Given the description of an element on the screen output the (x, y) to click on. 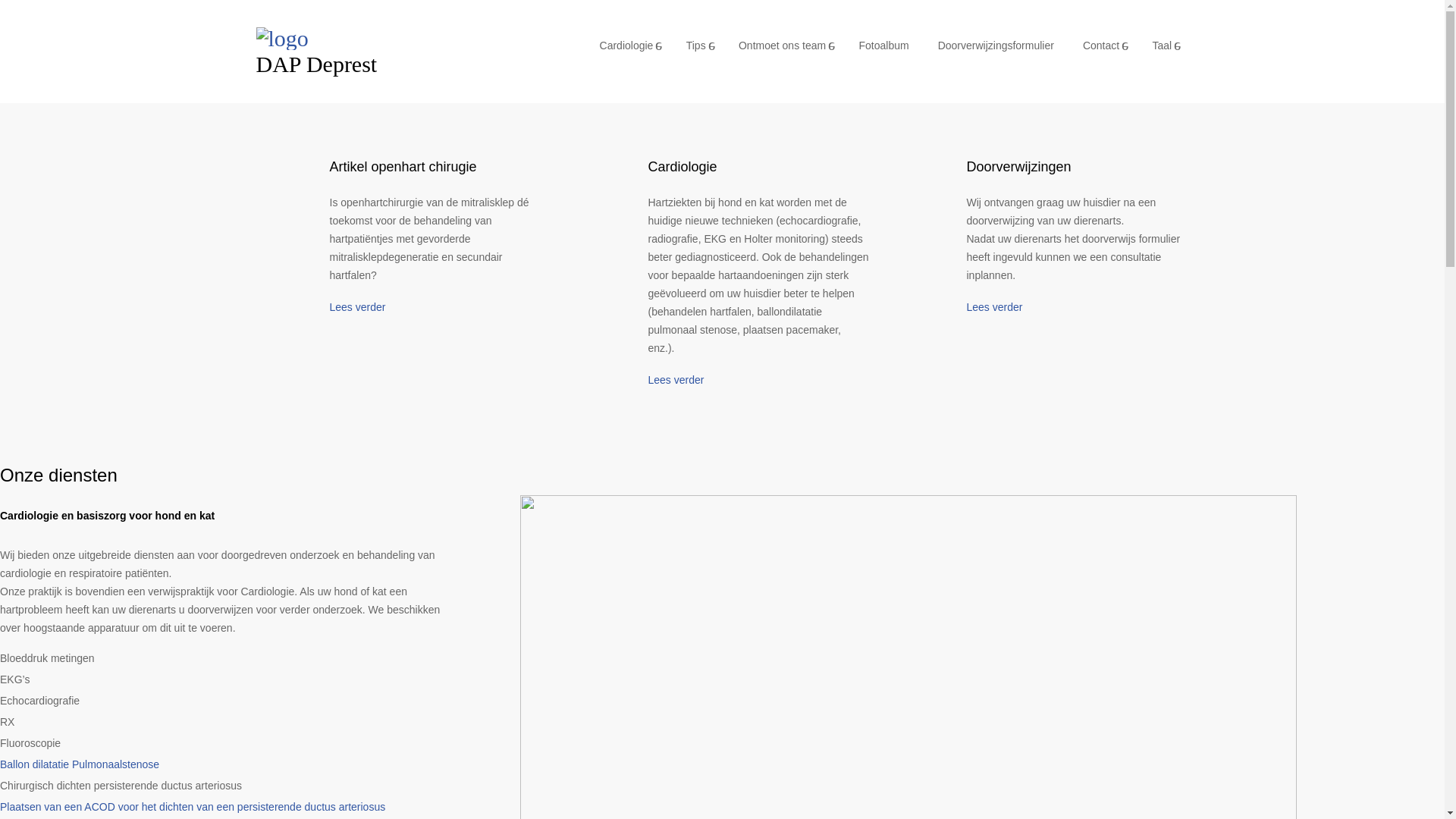
Tips Element type: text (698, 45)
Lees verder Element type: text (994, 307)
Cardiologie Element type: text (681, 166)
Fotoalbum Element type: text (883, 45)
Ontmoet ons team Element type: text (784, 45)
Ballon dilatatie Pulmonaalstenose Element type: text (79, 764)
Artikel openhart chirugie Element type: text (402, 166)
Lees verder Element type: text (675, 379)
Lees verder Element type: text (357, 307)
Contact Element type: text (1103, 45)
Taal Element type: text (1163, 45)
Doorverwijzingen Element type: text (1018, 166)
Cardiologie Element type: text (628, 45)
Doorverwijzingsformulier Element type: text (995, 45)
